Given the description of an element on the screen output the (x, y) to click on. 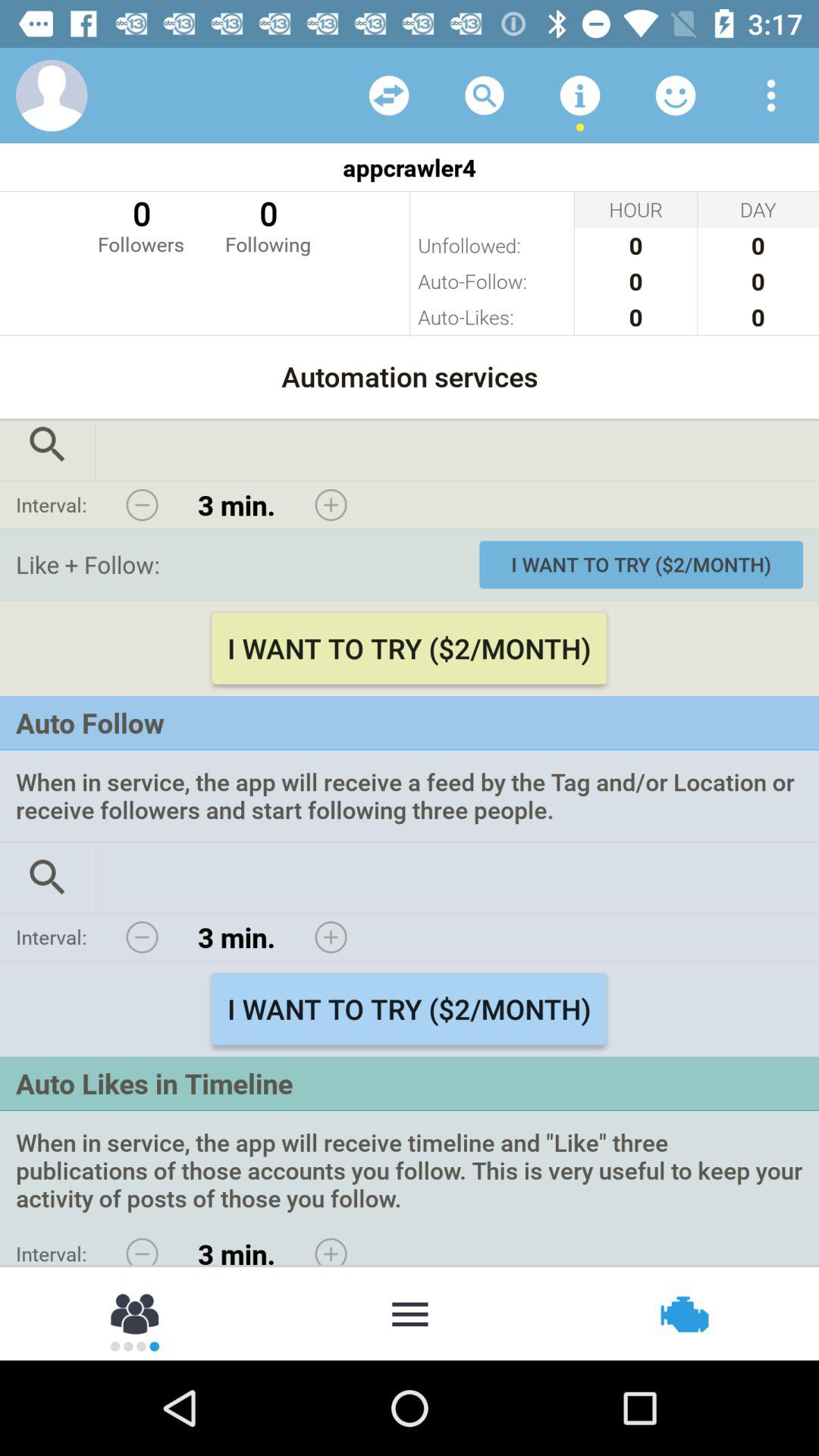
less interval (142, 1247)
